Given the description of an element on the screen output the (x, y) to click on. 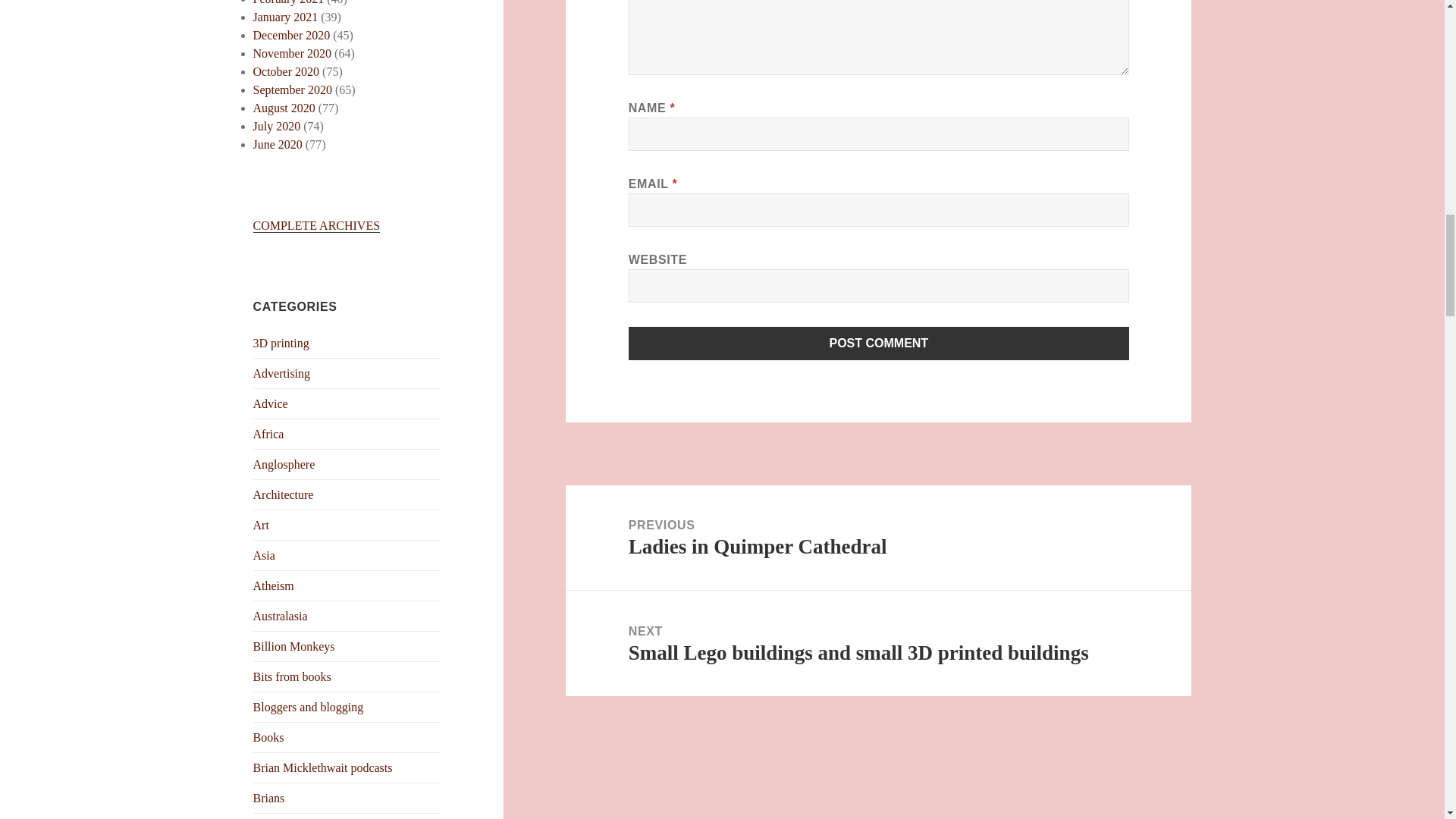
Post Comment (878, 343)
